Given the description of an element on the screen output the (x, y) to click on. 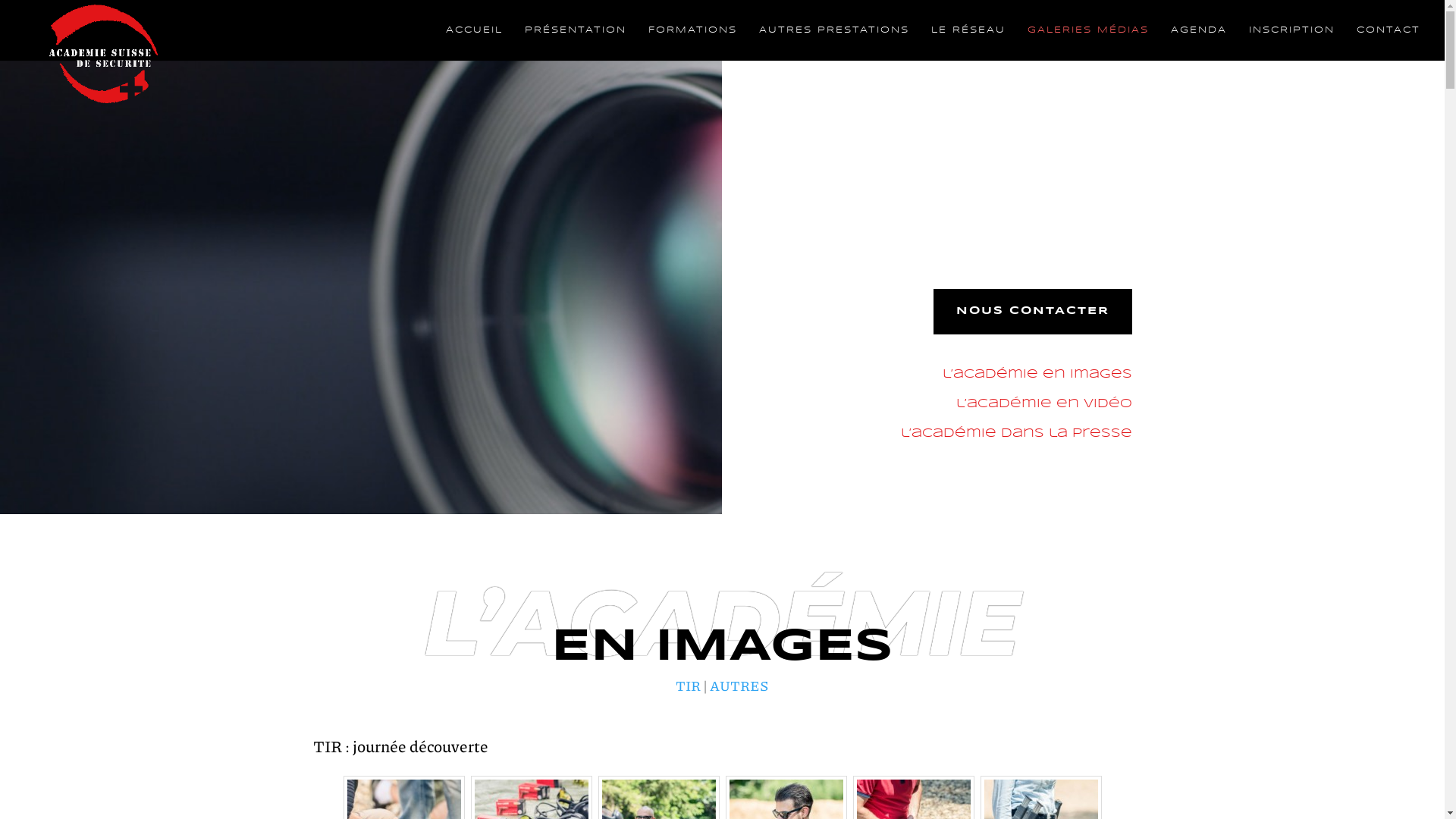
ACCUEIL Element type: text (473, 42)
CONTACT Element type: text (1388, 42)
FORMATIONS Element type: text (692, 42)
AGENDA Element type: text (1198, 42)
INSCRIPTION Element type: text (1291, 42)
AUTRES PRESTATIONS Element type: text (834, 42)
TIR Element type: text (687, 685)
NOUS CONTACTER Element type: text (1031, 311)
AUTRES Element type: text (738, 685)
